Given the description of an element on the screen output the (x, y) to click on. 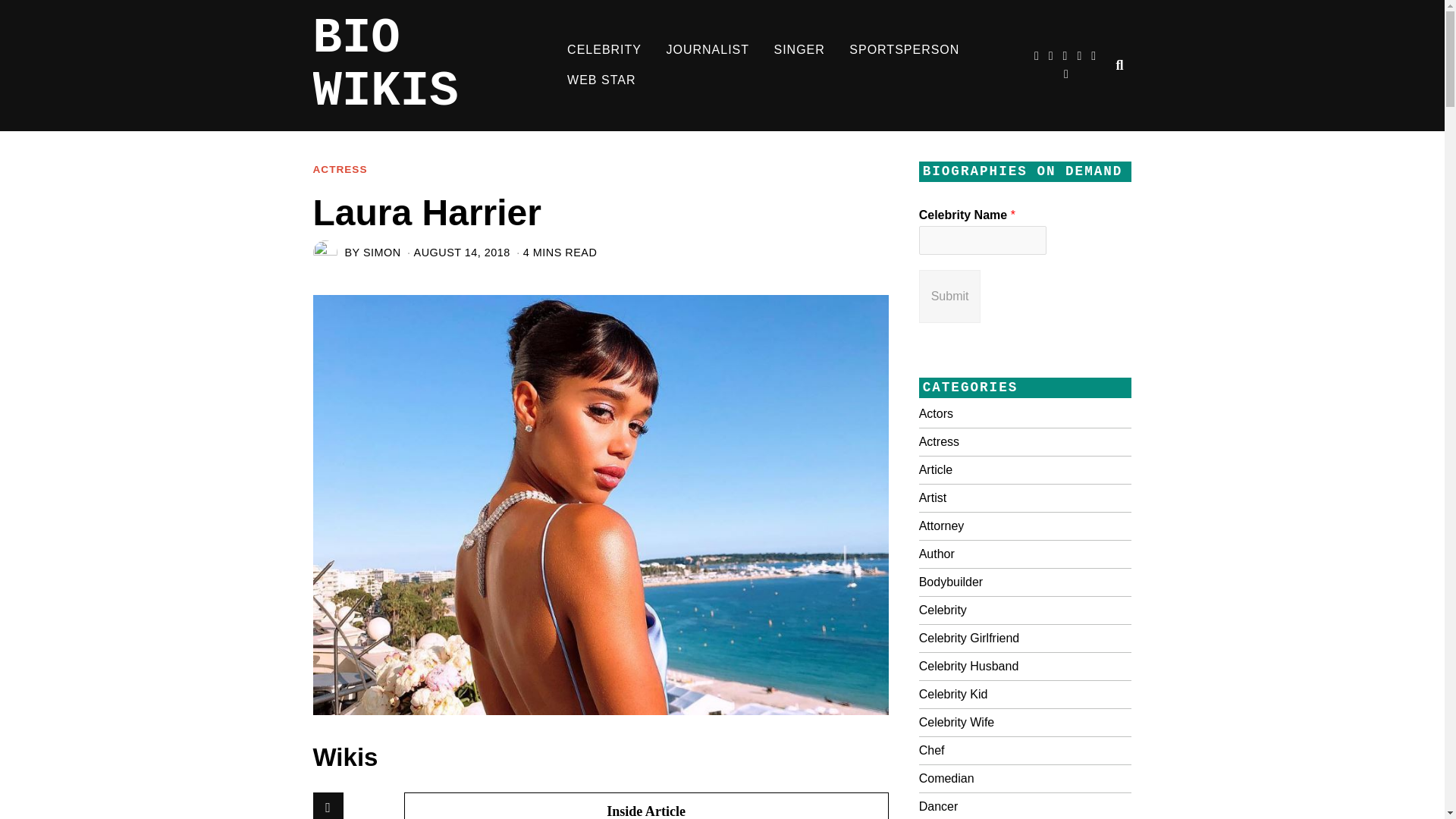
SPORTSPERSON (903, 50)
SINGER (798, 50)
BIO WIKIS (434, 65)
JOURNALIST (707, 50)
SIMON (381, 252)
ACTRESS (339, 169)
CELEBRITY (604, 50)
WEB STAR (601, 80)
Facebook (327, 805)
